Given the description of an element on the screen output the (x, y) to click on. 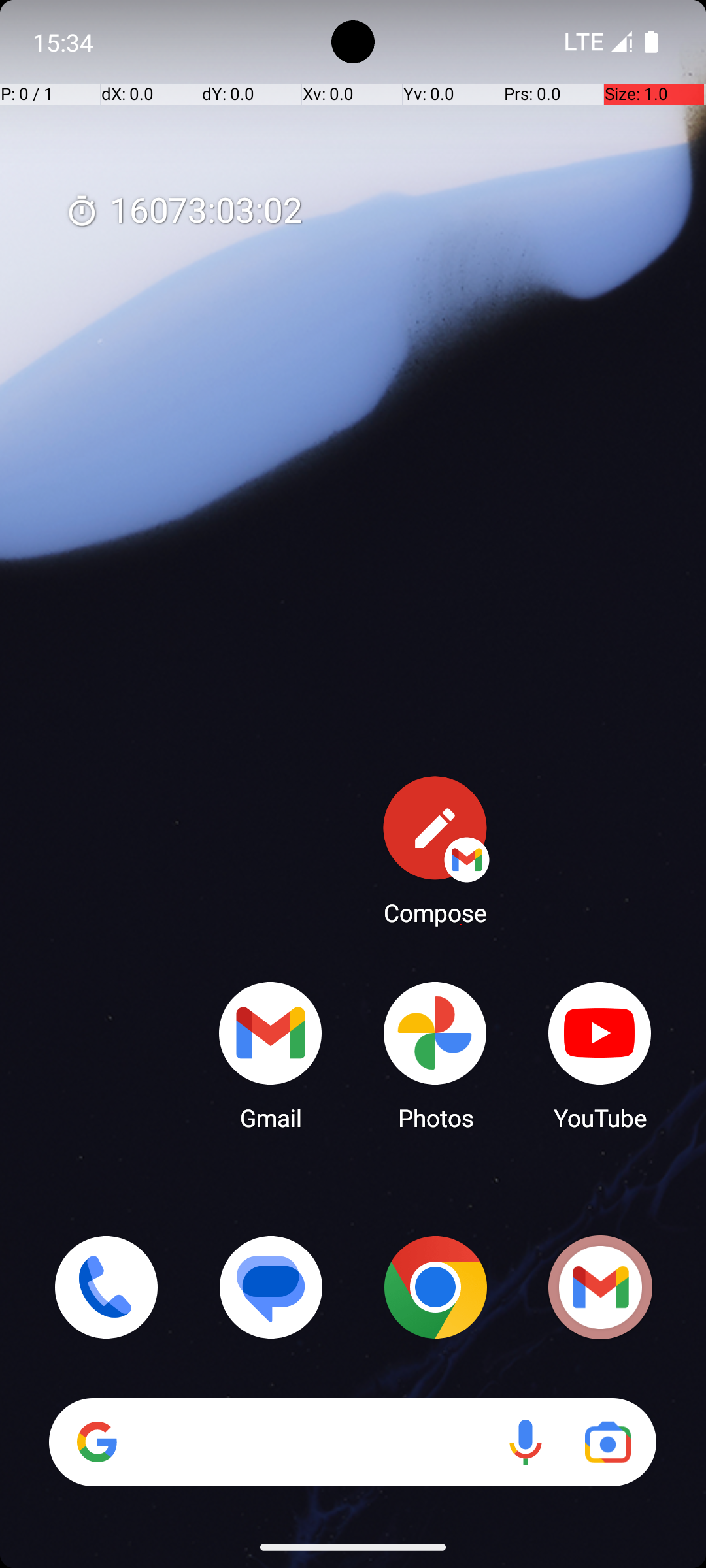
16073:03:03 Element type: android.widget.TextView (183, 210)
